Given the description of an element on the screen output the (x, y) to click on. 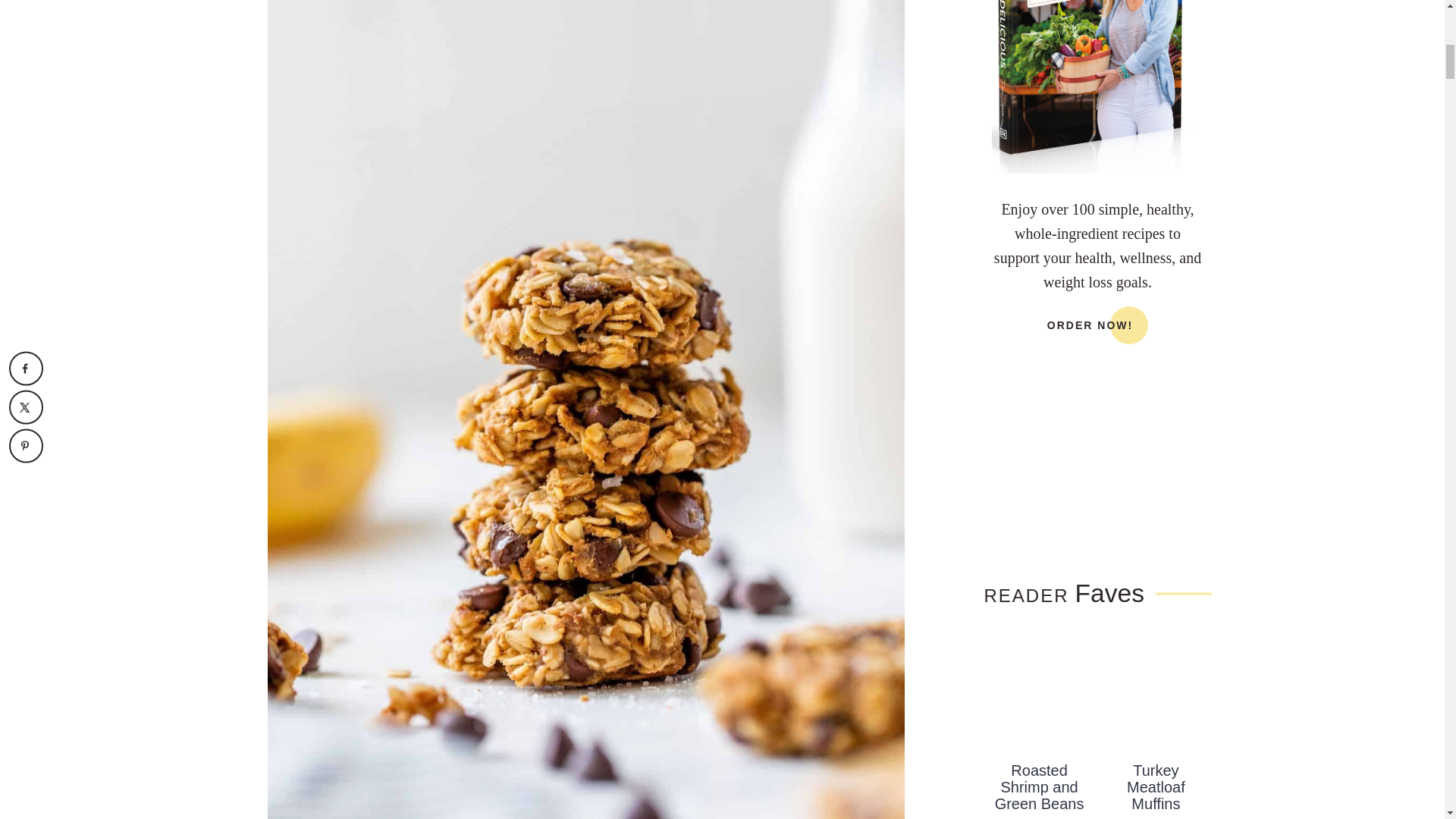
Turkey Meatloaf Muffins (1155, 694)
Roasted Shrimp and Green Beans (1039, 694)
